Given the description of an element on the screen output the (x, y) to click on. 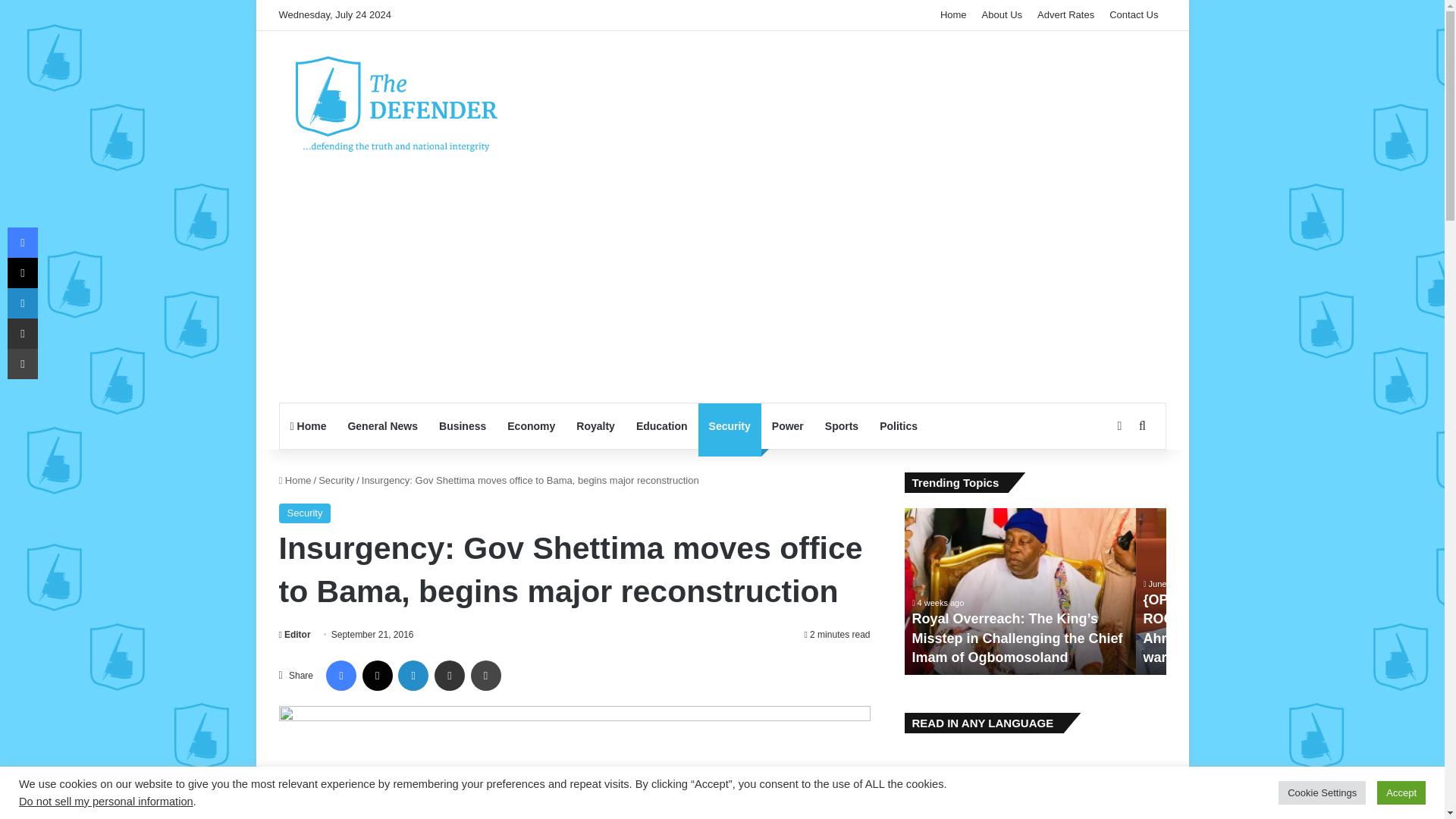
Home (295, 480)
Security (305, 513)
Power (787, 425)
Politics (898, 425)
LinkedIn (412, 675)
The DEFENDER (397, 102)
Home (307, 425)
Editor (295, 634)
Royalty (596, 425)
Economy (531, 425)
Sports (841, 425)
X (377, 675)
Security (729, 425)
Facebook (341, 675)
